Given the description of an element on the screen output the (x, y) to click on. 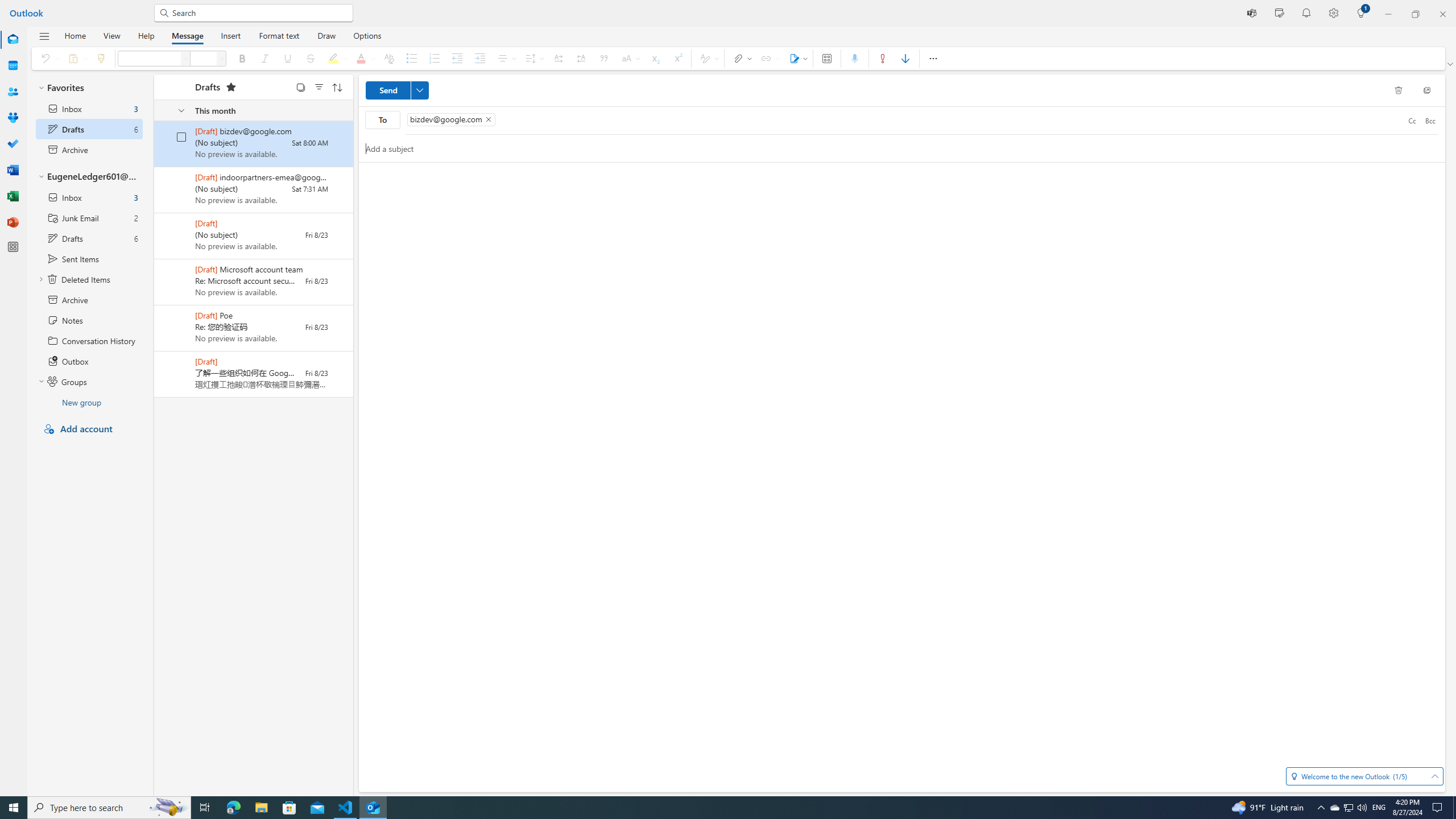
Spacing (533, 58)
Font size (220, 58)
Inbox 3 unread (89, 196)
Bcc (1430, 120)
Drafts selected 6 items (89, 128)
Format painter (101, 58)
Outbox (89, 360)
Left-to-right (558, 58)
Cc (1412, 120)
Attach file (740, 58)
Send (397, 90)
Numbering (434, 58)
Drafts 6 items (89, 237)
Dictate (854, 58)
